Given the description of an element on the screen output the (x, y) to click on. 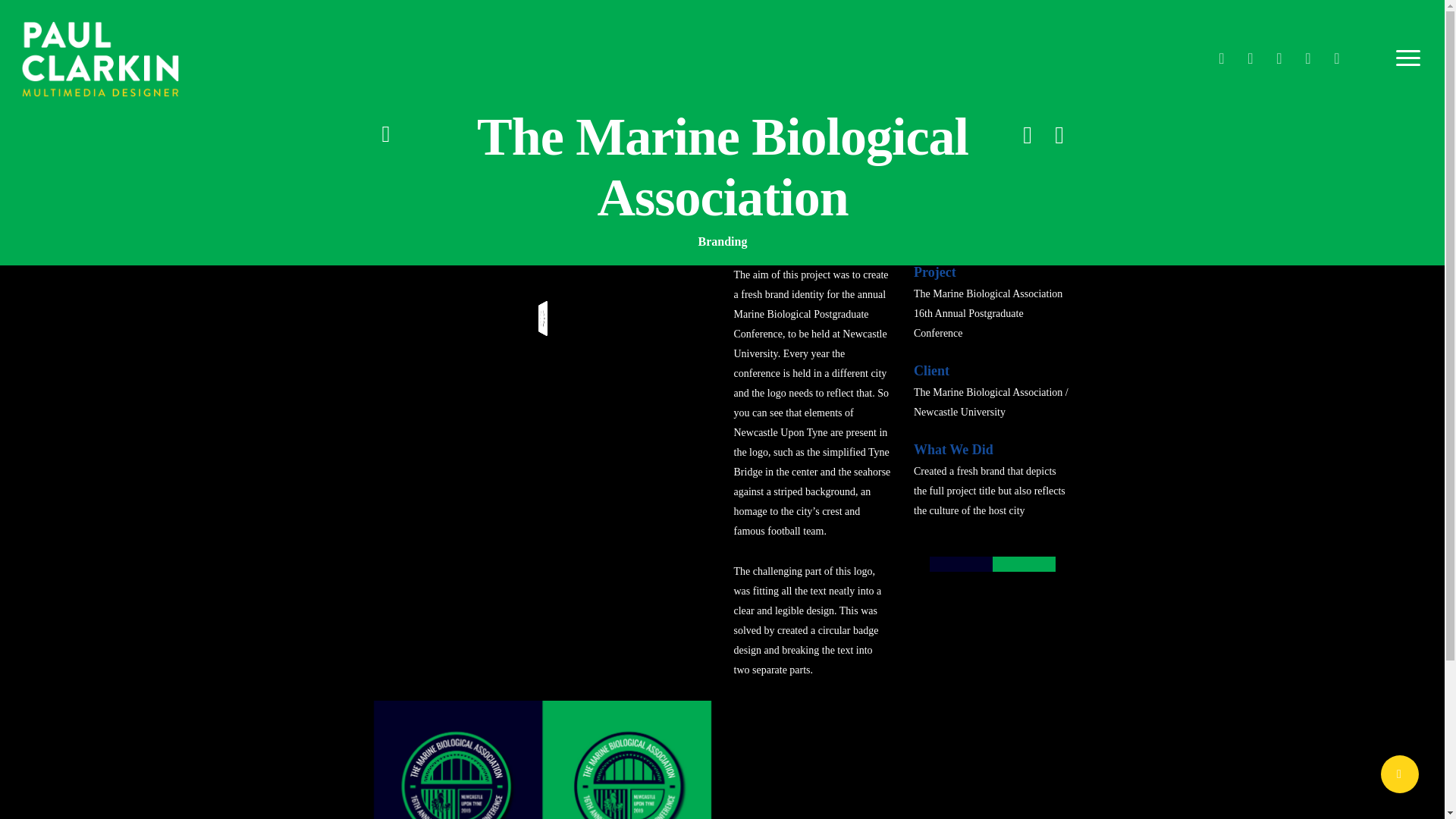
Back to all projects (384, 134)
